Given the description of an element on the screen output the (x, y) to click on. 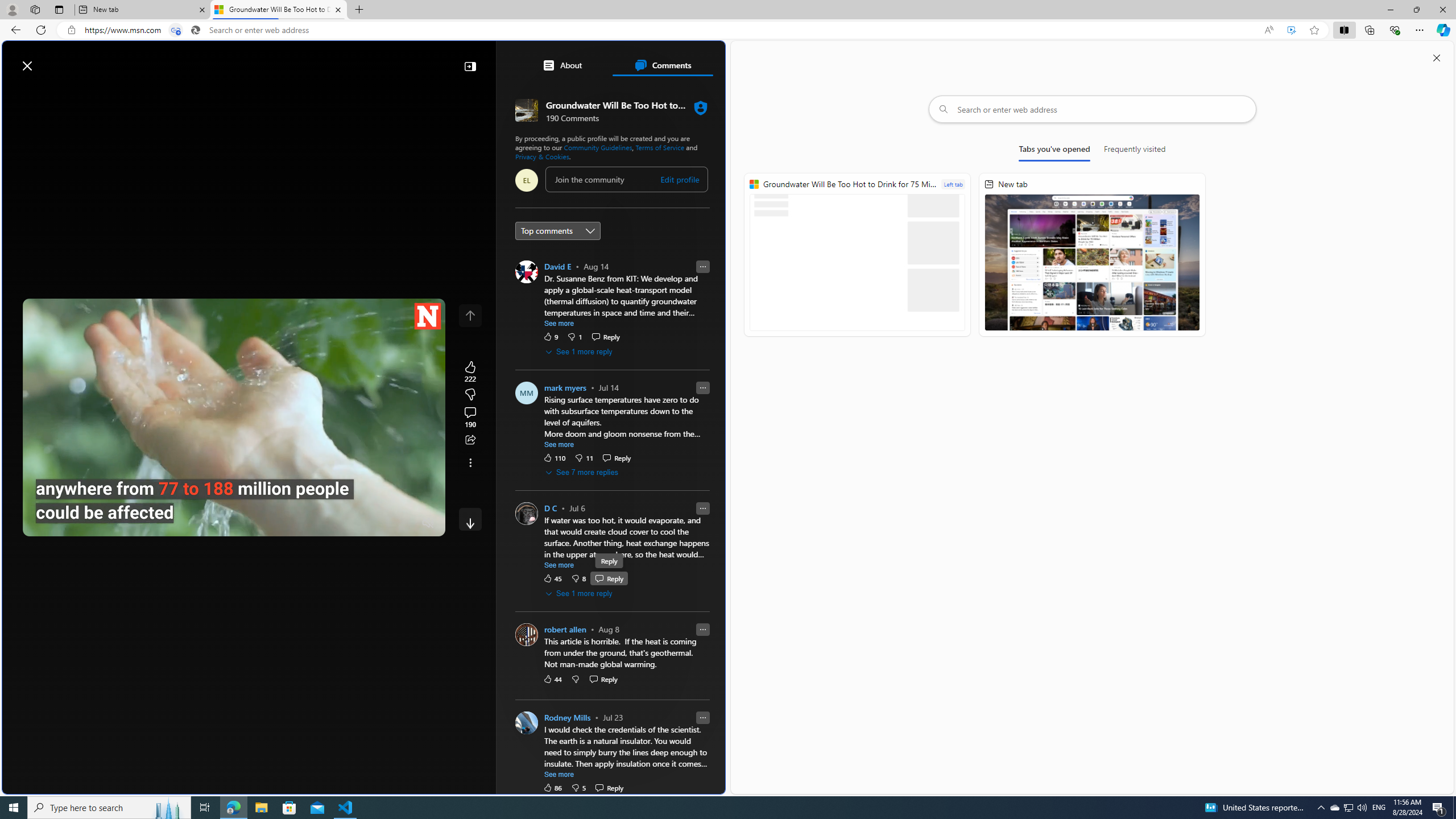
44 Like (552, 678)
Seek Forward (85, 523)
Tabs you've opened (1054, 151)
Custom Personal Discounts (616, 515)
mark myers (564, 387)
9 Like (550, 336)
Seek Back (62, 523)
Dislike (578, 787)
